Given the description of an element on the screen output the (x, y) to click on. 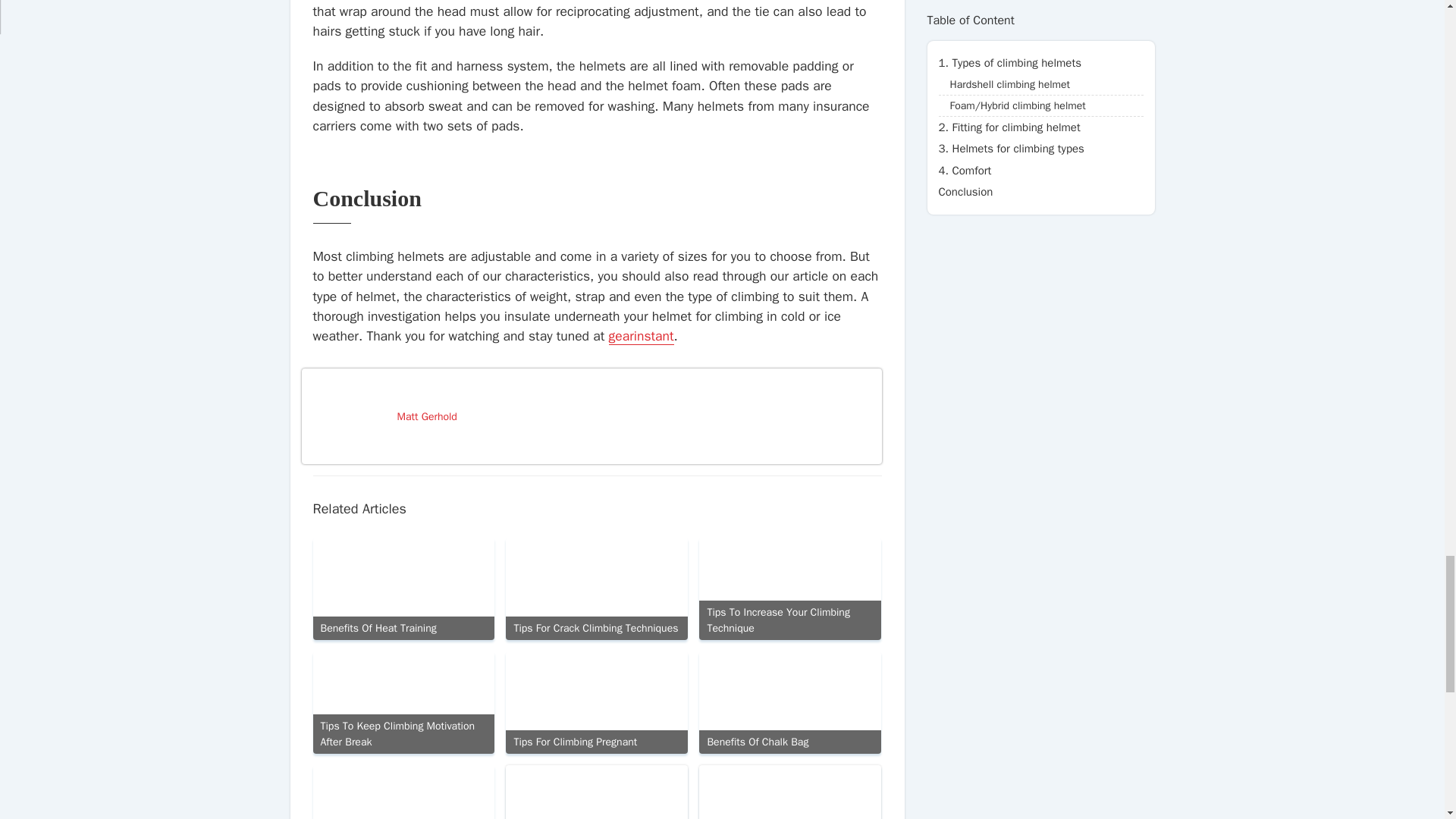
Tips For Crack Climbing Techniques (596, 588)
Benefits Of Rock Climbing Tape Gloves (404, 791)
Benefits Of Heat Training (404, 588)
Tips To Keep Climbing Motivation After Break (404, 702)
Matt Gerhold (633, 416)
Tips For Climbing Pregnant (596, 702)
Matt Gerhold (633, 416)
Tips For Climbing Pregnant (596, 702)
Benefits Of Chalk Bag (789, 702)
Tips To Increase Your Climbing Technique (789, 588)
